Given the description of an element on the screen output the (x, y) to click on. 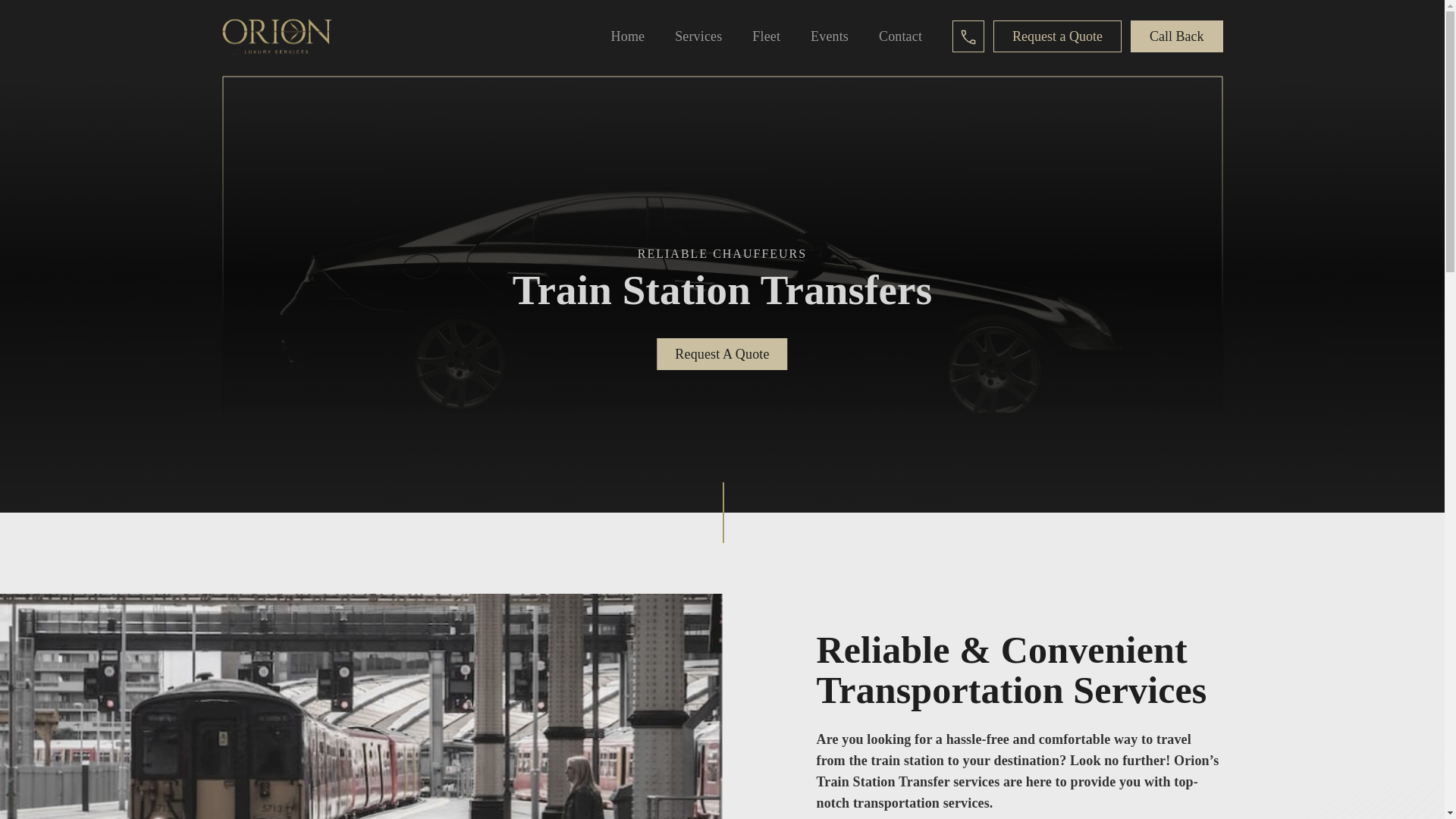
Call Back (1177, 36)
Contact (900, 36)
Request a Quote (1056, 36)
Fleet (765, 36)
Request A Quote (721, 354)
Services (697, 36)
Events (828, 36)
Home (628, 36)
